Given the description of an element on the screen output the (x, y) to click on. 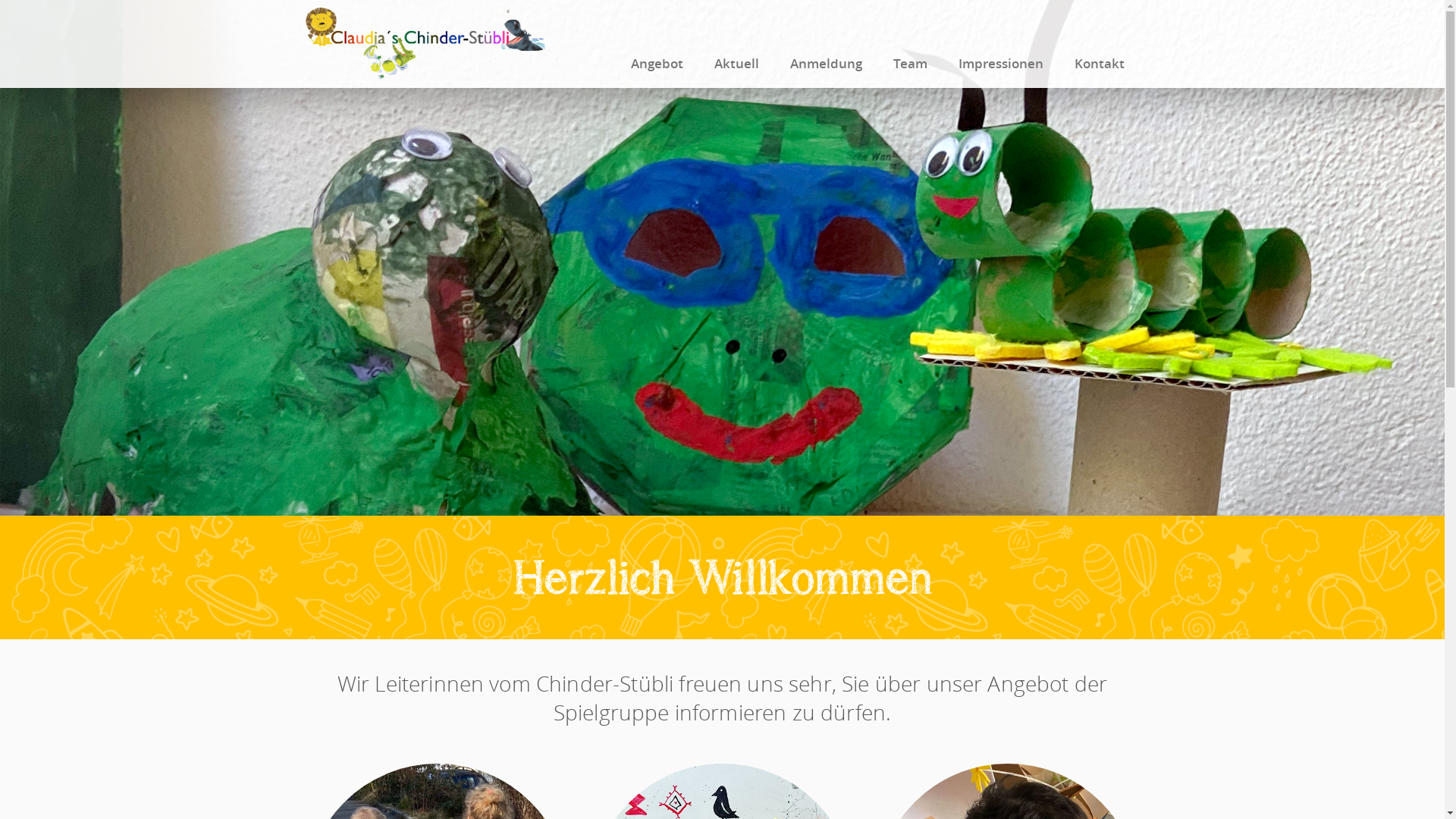
Angebot Element type: text (656, 43)
Startseite Element type: hover (424, 68)
Aktuell Element type: text (736, 43)
Impressionen Element type: text (1000, 43)
Team Element type: text (910, 43)
Kontakt Element type: text (1098, 43)
Anmeldung Element type: text (826, 43)
